Given the description of an element on the screen output the (x, y) to click on. 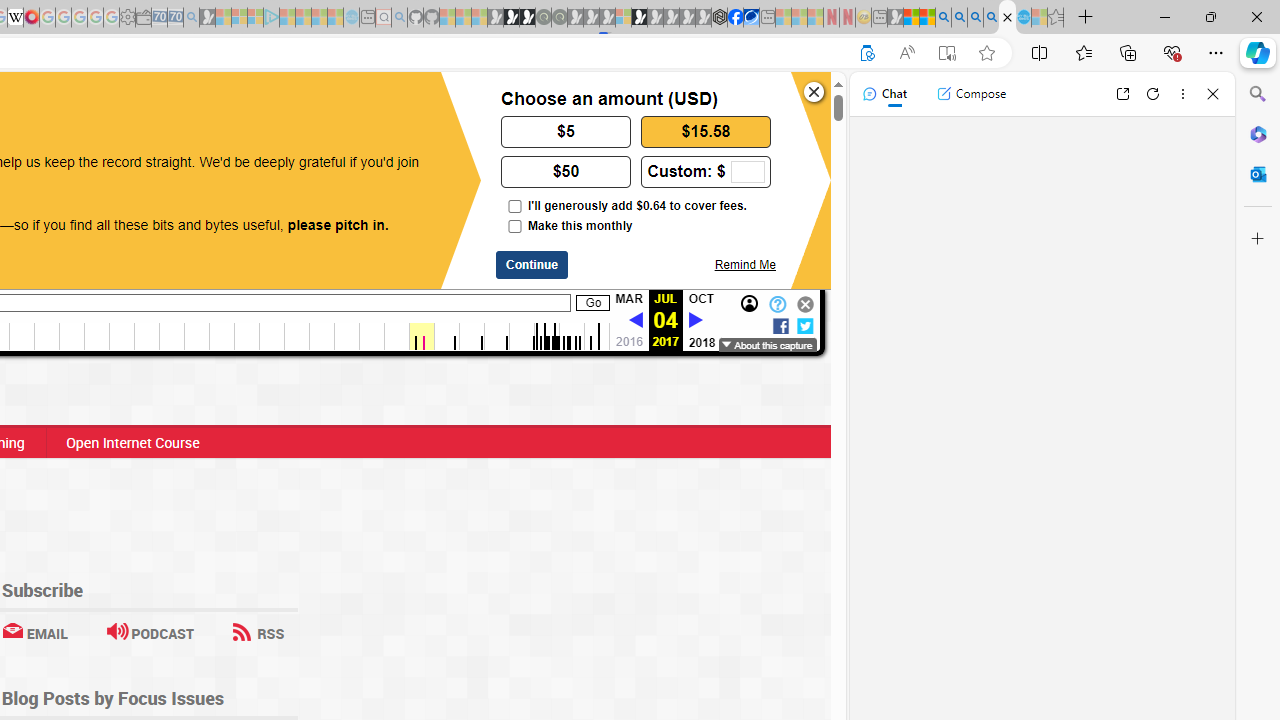
Previous capture (635, 319)
Make this monthly (514, 225)
DONATE (178, 108)
Previous capture (635, 321)
